Given the description of an element on the screen output the (x, y) to click on. 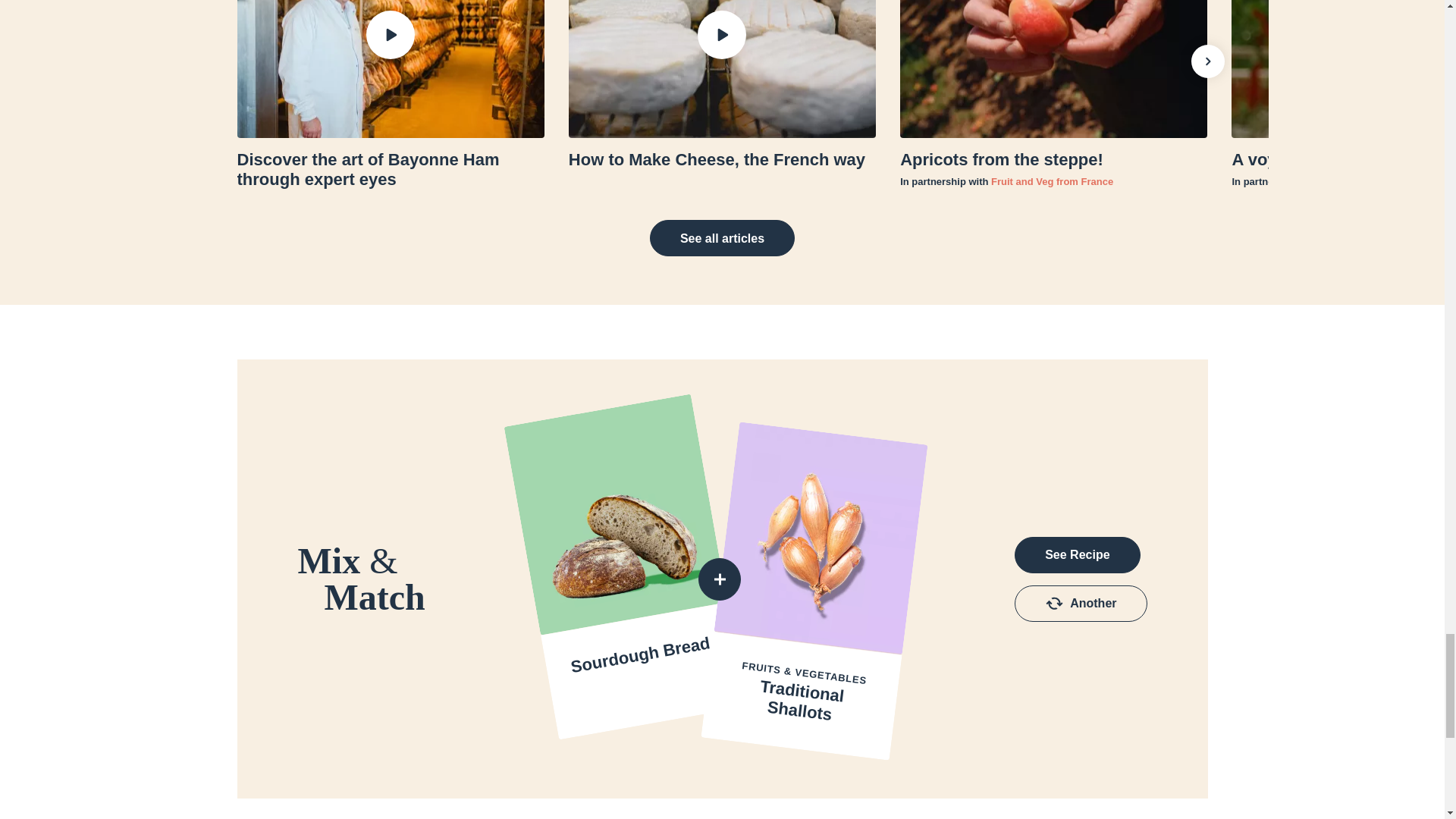
Another (1080, 603)
See Recipe (1077, 555)
How to Make Cheese, the French way (722, 159)
See all articles (721, 238)
Discover the art of Bayonne Ham through expert eyes (389, 169)
Apricots from the steppe! (1053, 159)
